Given the description of an element on the screen output the (x, y) to click on. 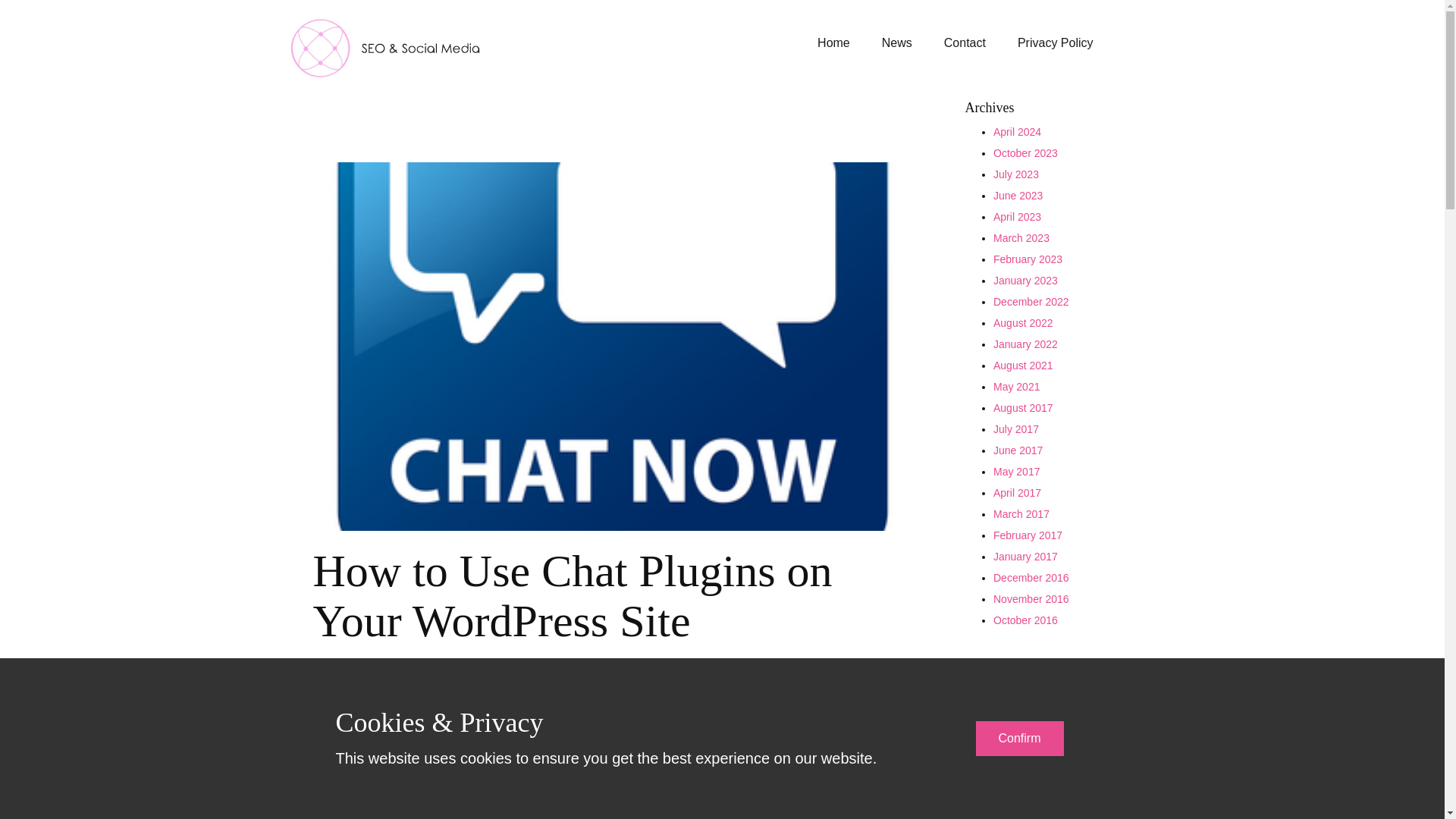
July 2023 (1015, 174)
Contact (964, 42)
August 2022 (1022, 322)
April 2017 (1016, 492)
June 2023 (1017, 195)
May 2017 (1015, 471)
January 2023 (1025, 280)
January 2022 (1025, 344)
February 2023 (1027, 259)
March 2017 (1020, 513)
News (896, 42)
April 2024 (1016, 132)
March 2023 (1020, 237)
Web Development (485, 678)
Home (833, 42)
